Given the description of an element on the screen output the (x, y) to click on. 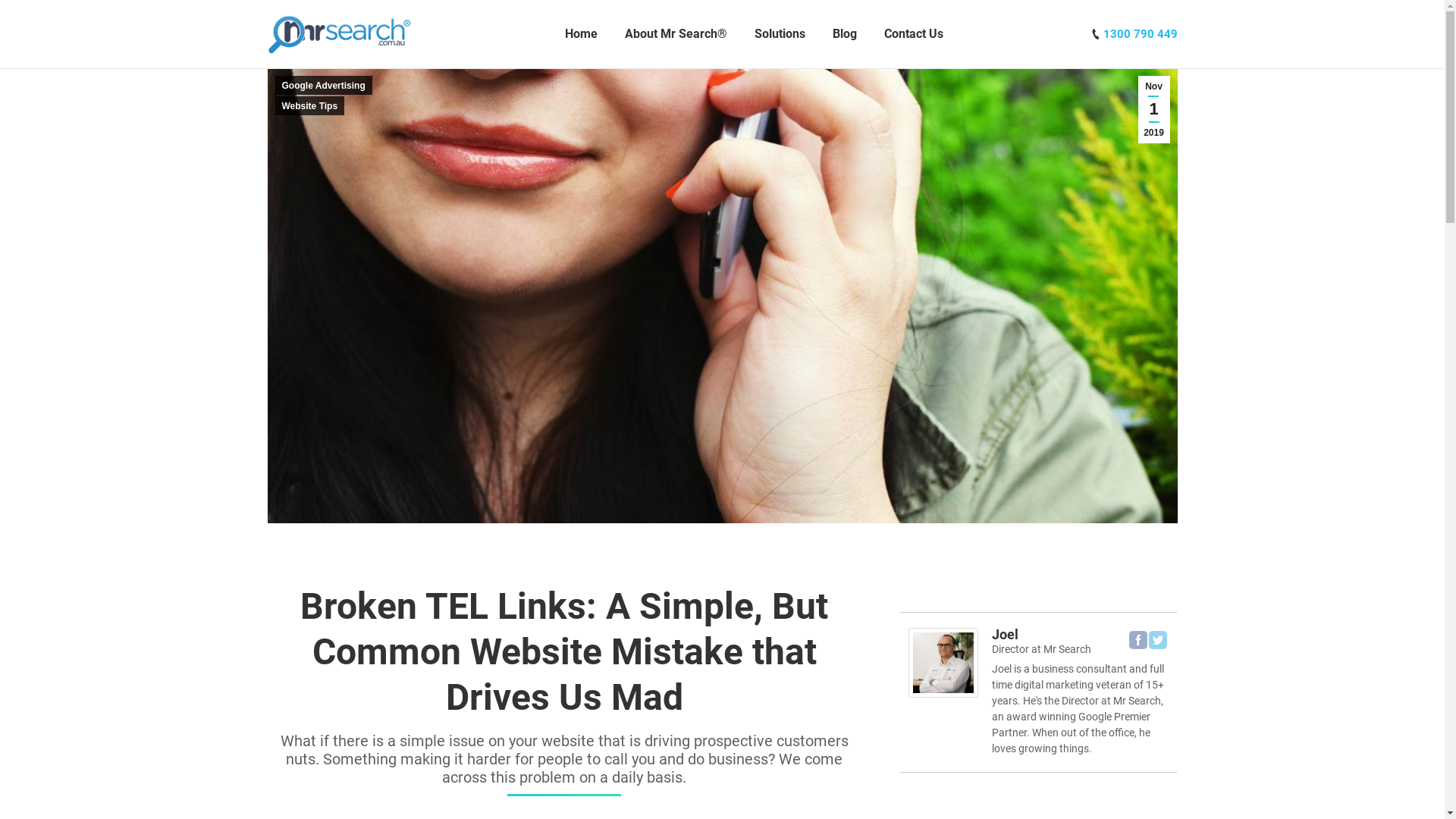
Facebook Element type: hover (1138, 639)
Home Element type: text (580, 33)
Solutions Element type: text (779, 33)
Nov
1
2019 Element type: text (1153, 109)
Blog Element type: text (844, 33)
Contact Us Element type: text (913, 33)
Website Tips Element type: text (309, 105)
1300 790 449 Element type: text (1139, 33)
Joel Element type: hover (943, 692)
Google Advertising Element type: text (322, 84)
Joel Element type: text (1004, 634)
Twitter Element type: hover (1157, 639)
